Given the description of an element on the screen output the (x, y) to click on. 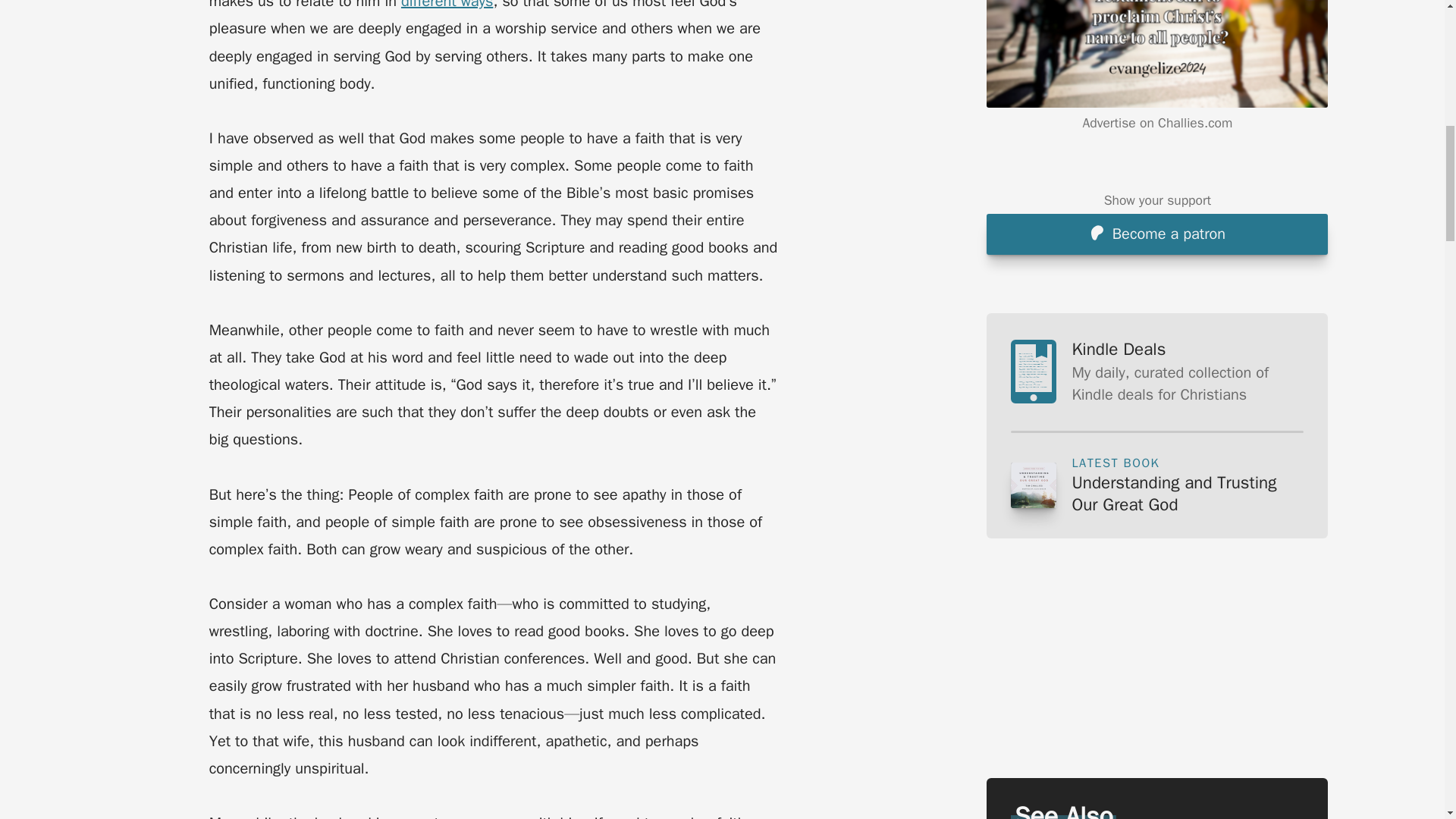
Become a patron (1157, 33)
Understanding and Trusting Our Great God (1187, 493)
different ways (447, 5)
